Given the description of an element on the screen output the (x, y) to click on. 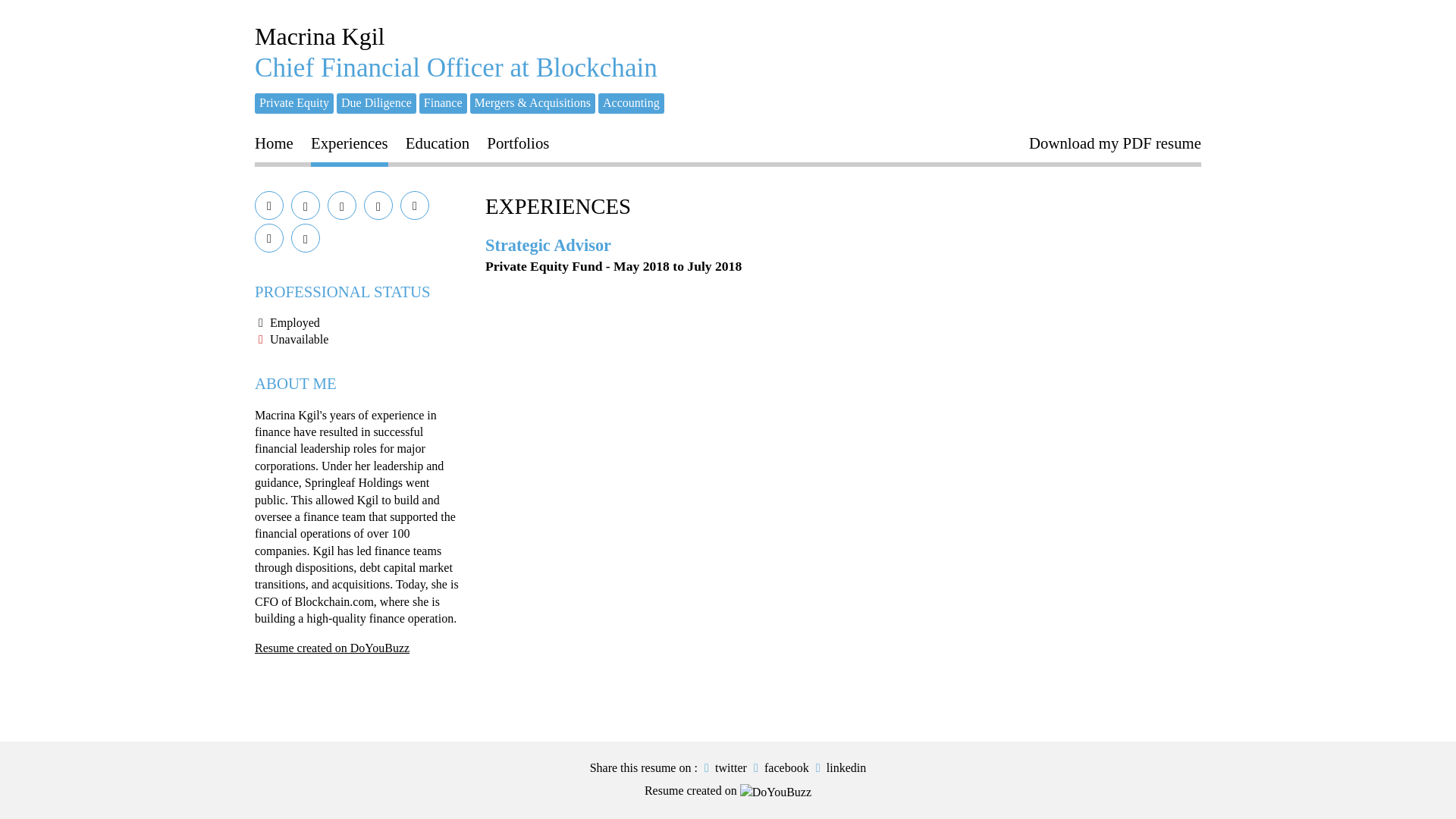
Strategic Advisor (547, 244)
facebook (779, 767)
Education (437, 146)
Download my PDF resume (1115, 146)
Resume created on DoYouBuzz (331, 647)
twitter (723, 767)
Experiences (349, 146)
linkedin (839, 767)
EXPERIENCES (557, 206)
Resume created on (727, 789)
Portfolios (517, 146)
Home (274, 146)
